Given the description of an element on the screen output the (x, y) to click on. 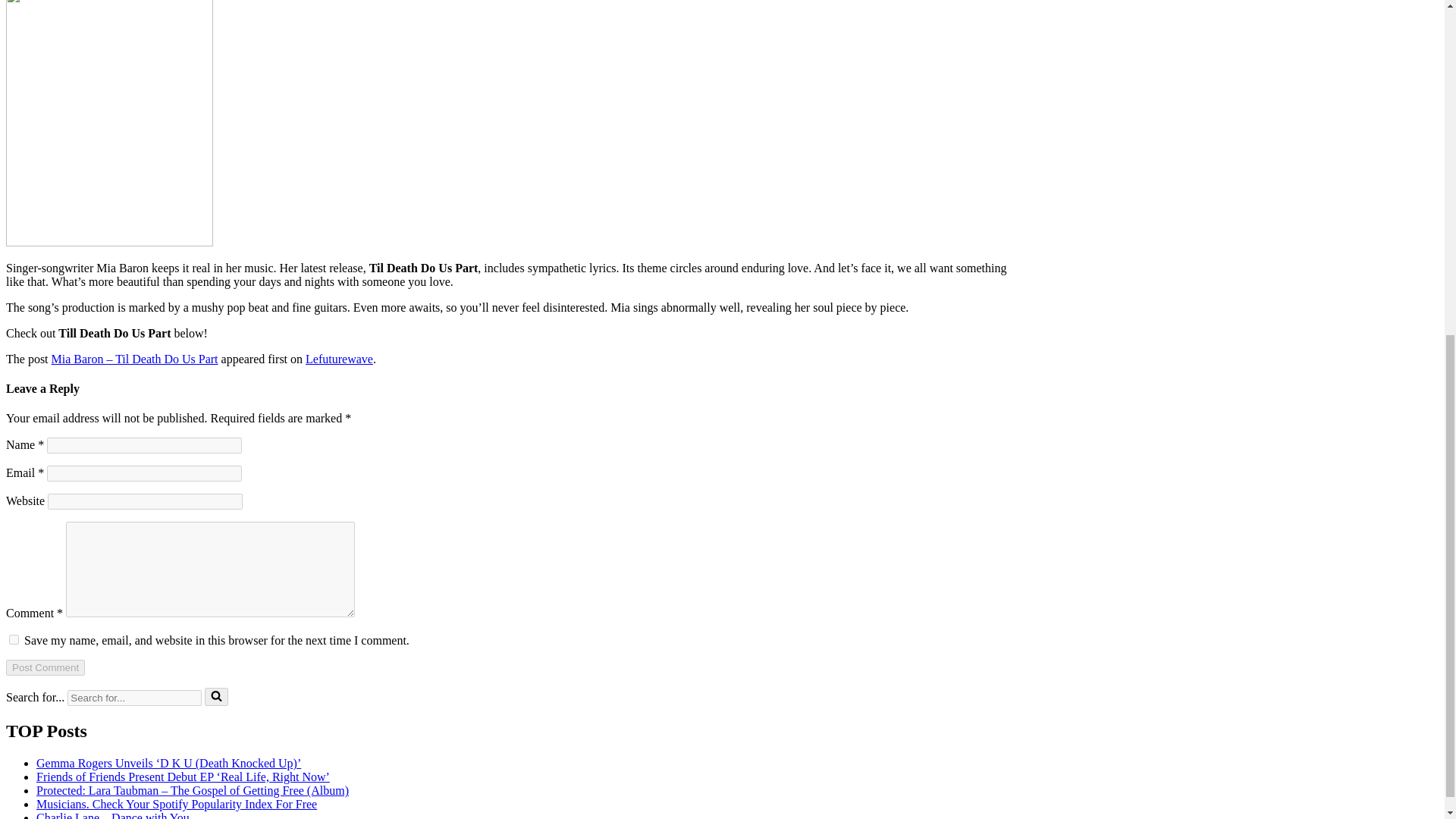
Musicians. Check Your Spotify Popularity Index For Free (176, 803)
Post Comment (44, 667)
yes (13, 639)
Post Comment (44, 667)
Lefuturewave (338, 358)
